Given the description of an element on the screen output the (x, y) to click on. 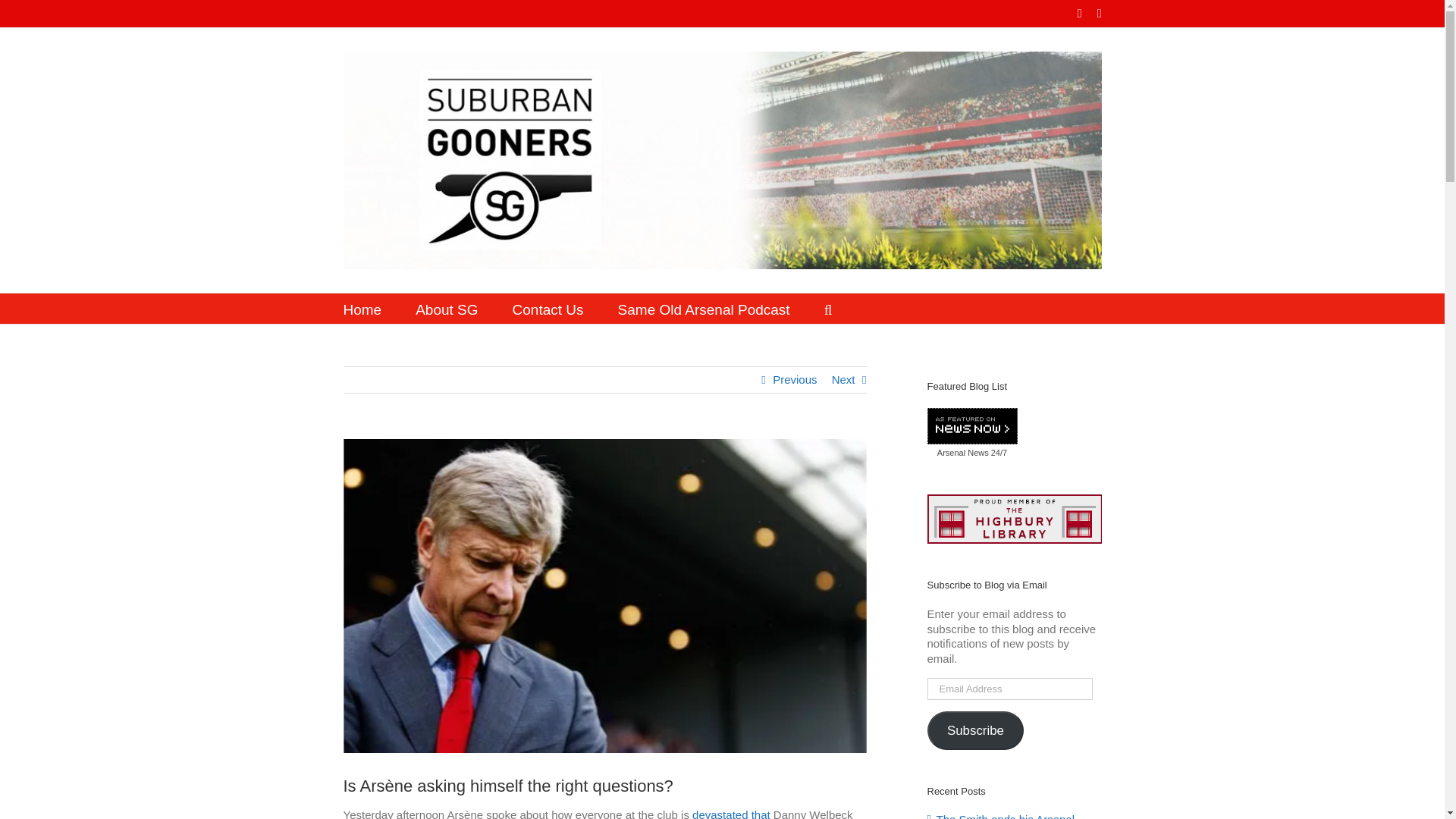
Next (843, 379)
Home (361, 308)
About SG (445, 308)
Contact Us (547, 308)
Same Old Arsenal Podcast (703, 308)
devastated that (731, 813)
Previous (794, 379)
